Given the description of an element on the screen output the (x, y) to click on. 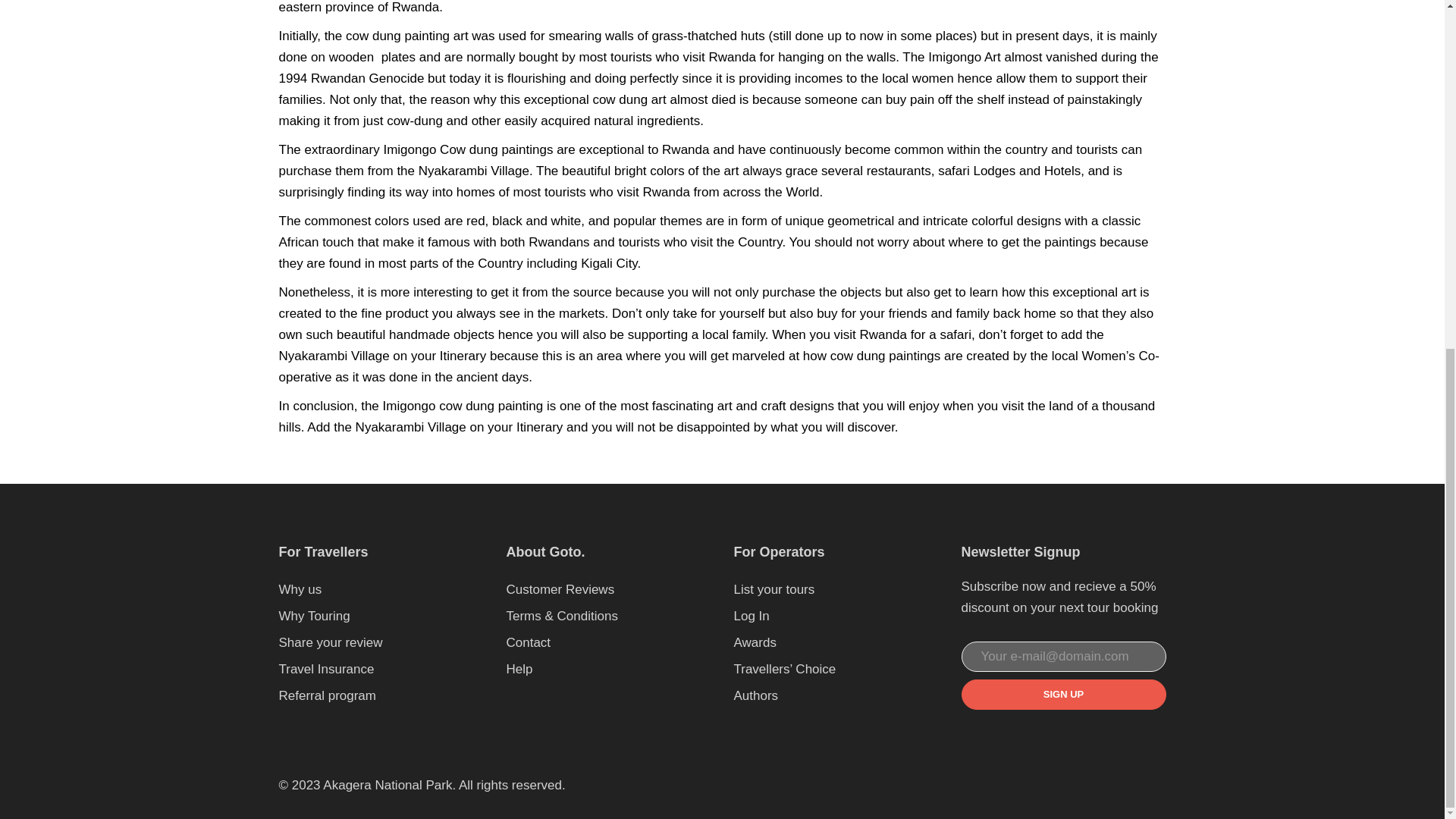
Customer Reviews (560, 589)
Why Touring (314, 616)
Authors (755, 695)
Log In (751, 616)
Travel Insurance (326, 668)
List your tours (774, 589)
Share your review (330, 642)
SIGN UP (1063, 694)
Help (519, 668)
Contact (528, 642)
